Given the description of an element on the screen output the (x, y) to click on. 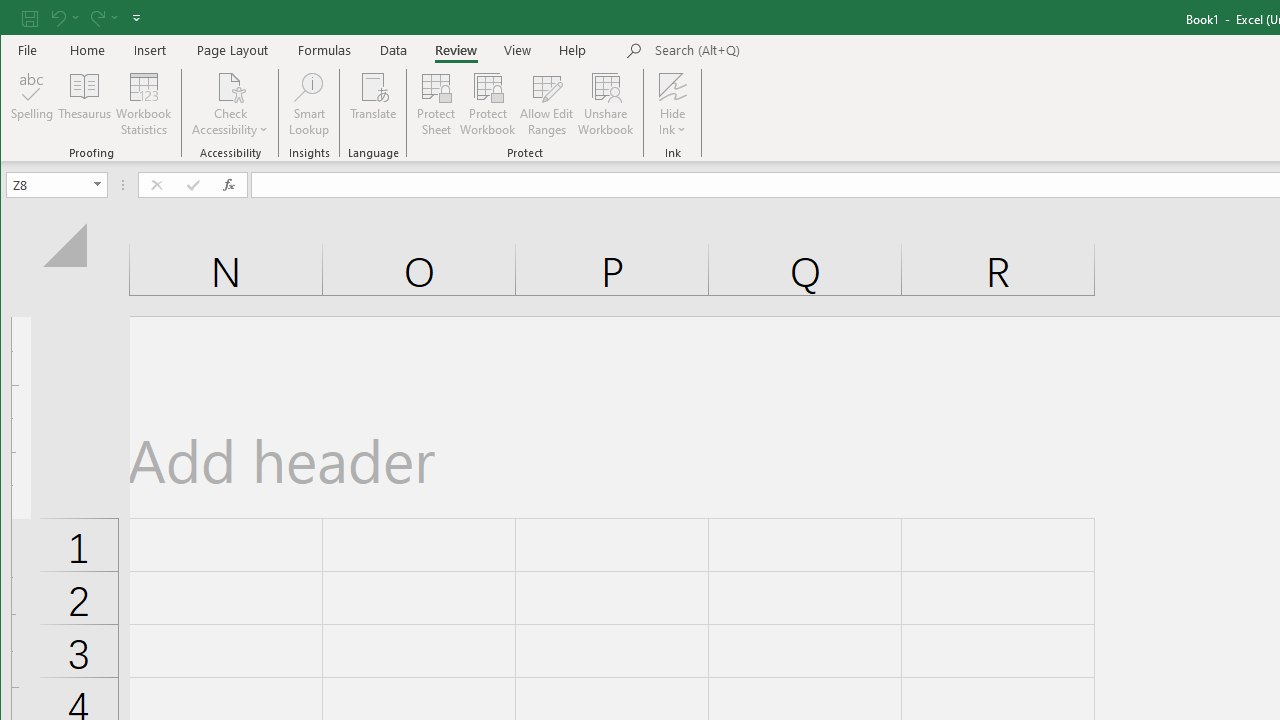
Allow Edit Ranges (547, 104)
Spelling... (32, 104)
Thesaurus... (84, 104)
